Given the description of an element on the screen output the (x, y) to click on. 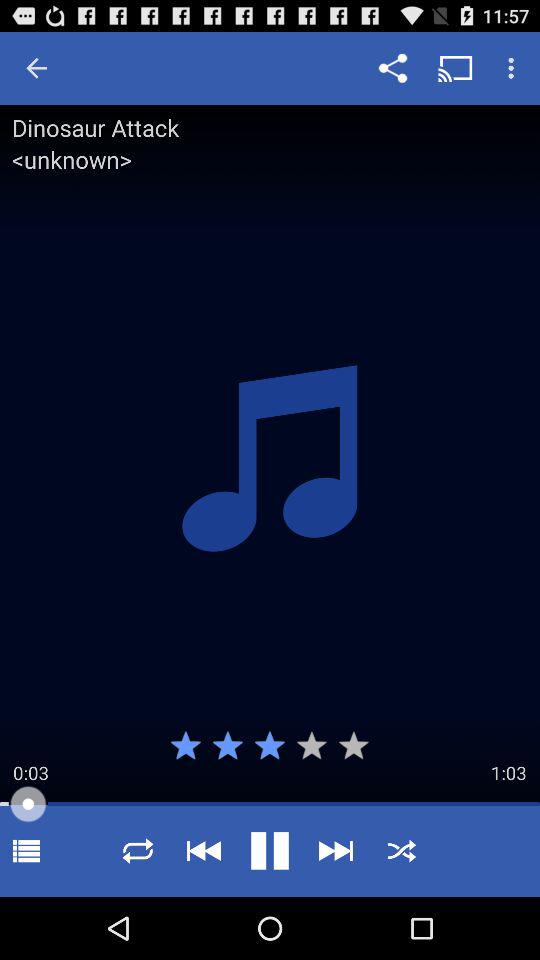
music list (26, 850)
